Given the description of an element on the screen output the (x, y) to click on. 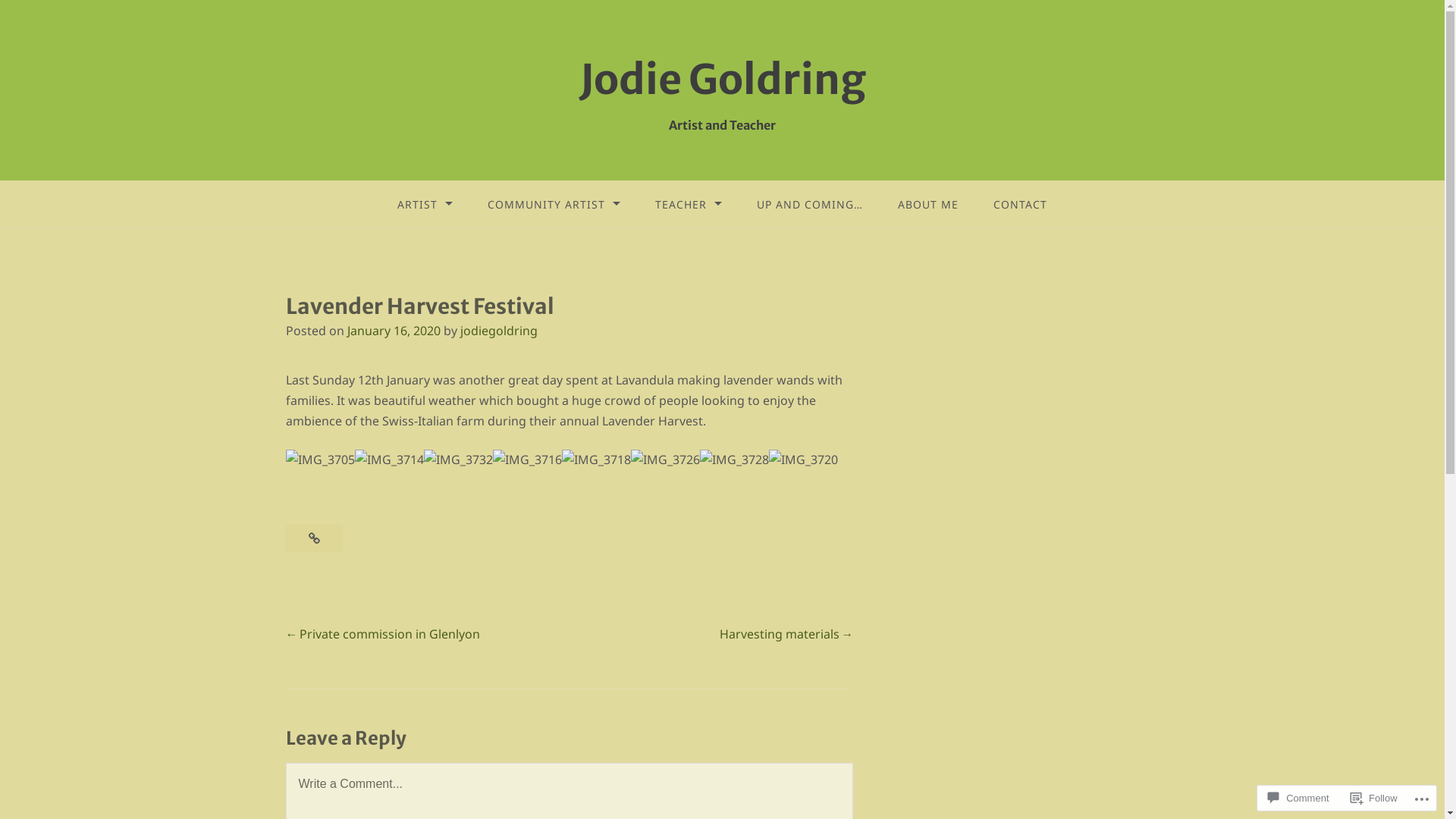
ARTIST Element type: text (424, 204)
Harvesting materials Element type: text (786, 633)
TEACHER Element type: text (688, 204)
jodiegoldring Element type: text (497, 330)
COMMUNITY ARTIST Element type: text (553, 204)
Follow Element type: text (1373, 797)
CONTACT Element type: text (1020, 204)
Private commission in Glenlyon Element type: text (382, 633)
January 16, 2020 Element type: text (393, 330)
Jodie Goldring Element type: text (722, 79)
ABOUT ME Element type: text (927, 204)
Comment Element type: text (1297, 797)
